Given the description of an element on the screen output the (x, y) to click on. 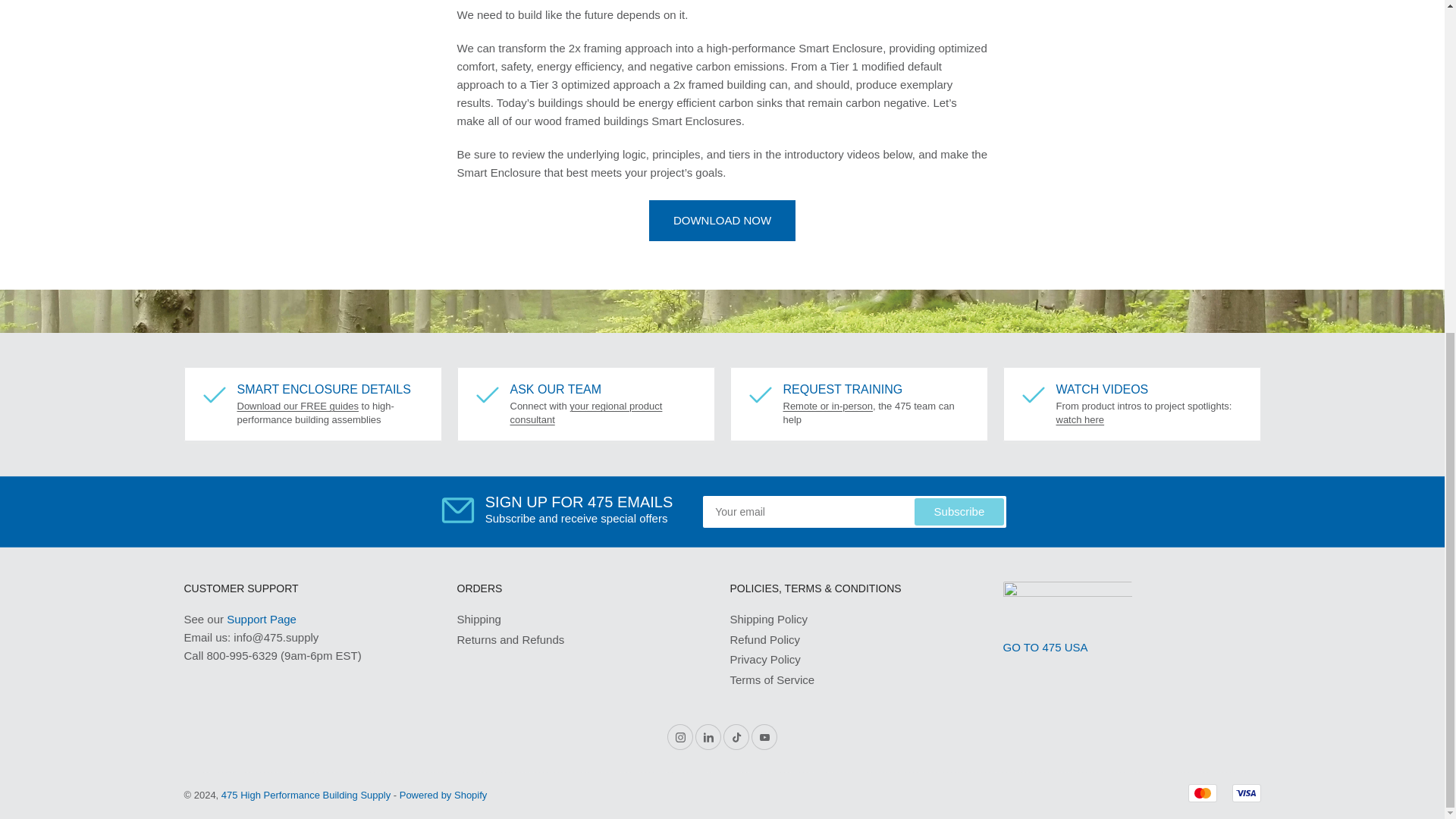
REQUEST A TRAINING (827, 405)
SUPPORT (262, 618)
Smart Enclosure Introduction (296, 405)
VIDEOS (1079, 419)
Contact Us (585, 412)
